Given the description of an element on the screen output the (x, y) to click on. 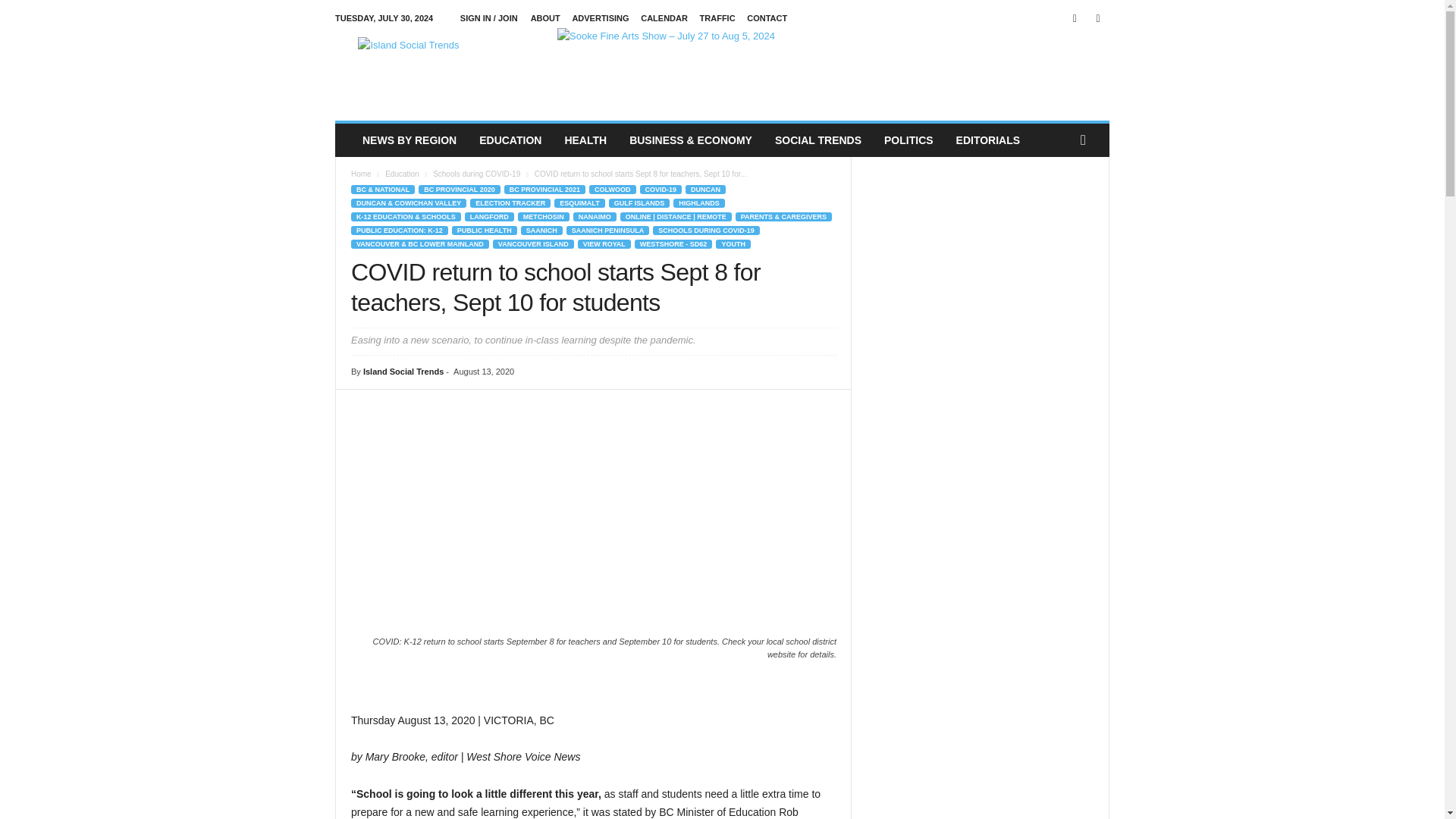
Island Social Trends - news insights on Vancouver Island, BC (438, 70)
View all posts in Schools during COVID-19 (475, 173)
View all posts in Education (402, 173)
